Given the description of an element on the screen output the (x, y) to click on. 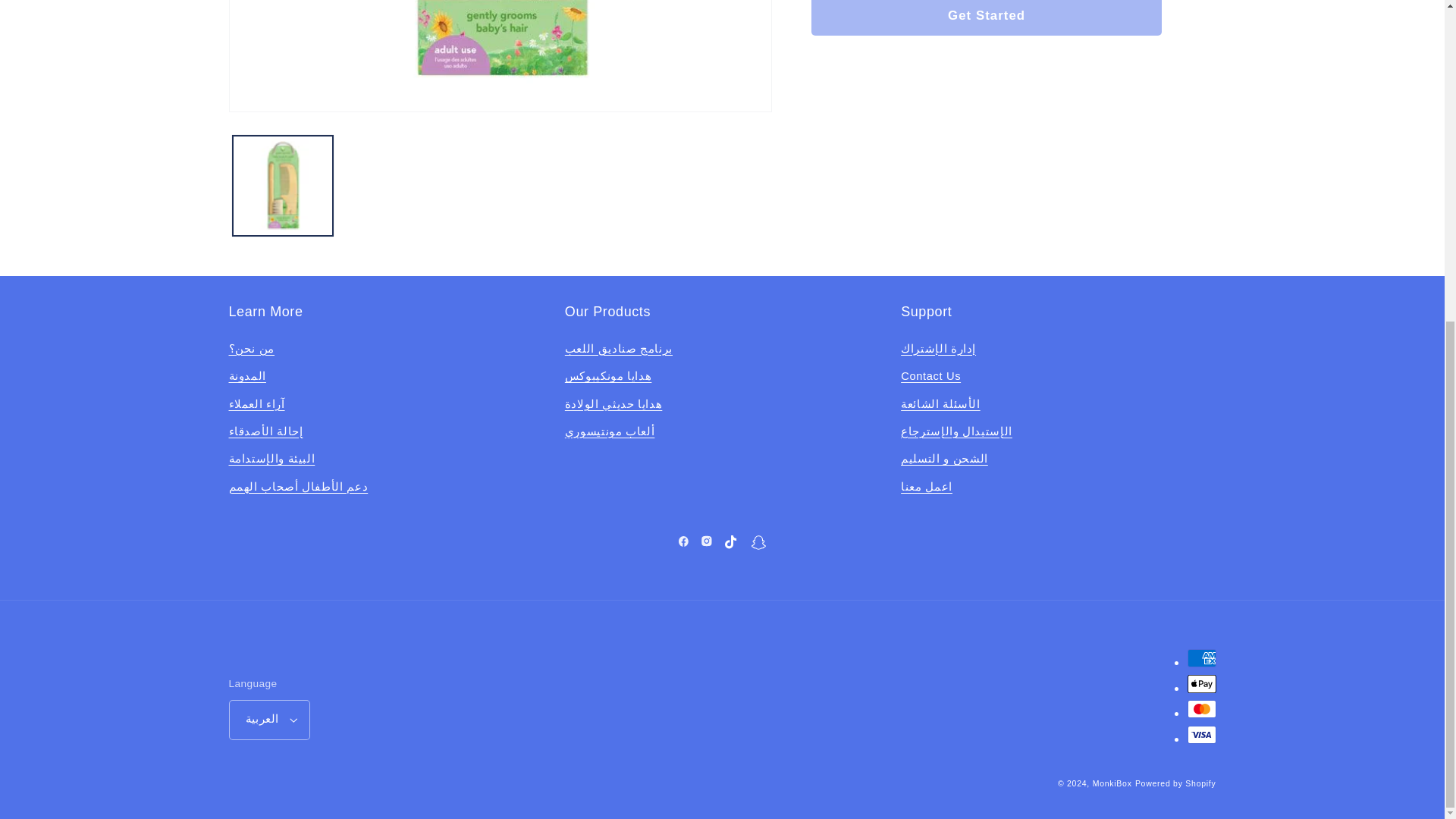
Apple Pay (1201, 683)
Mastercard (1201, 709)
Get Started (985, 17)
American Express (1201, 658)
Visa (1201, 734)
